Given the description of an element on the screen output the (x, y) to click on. 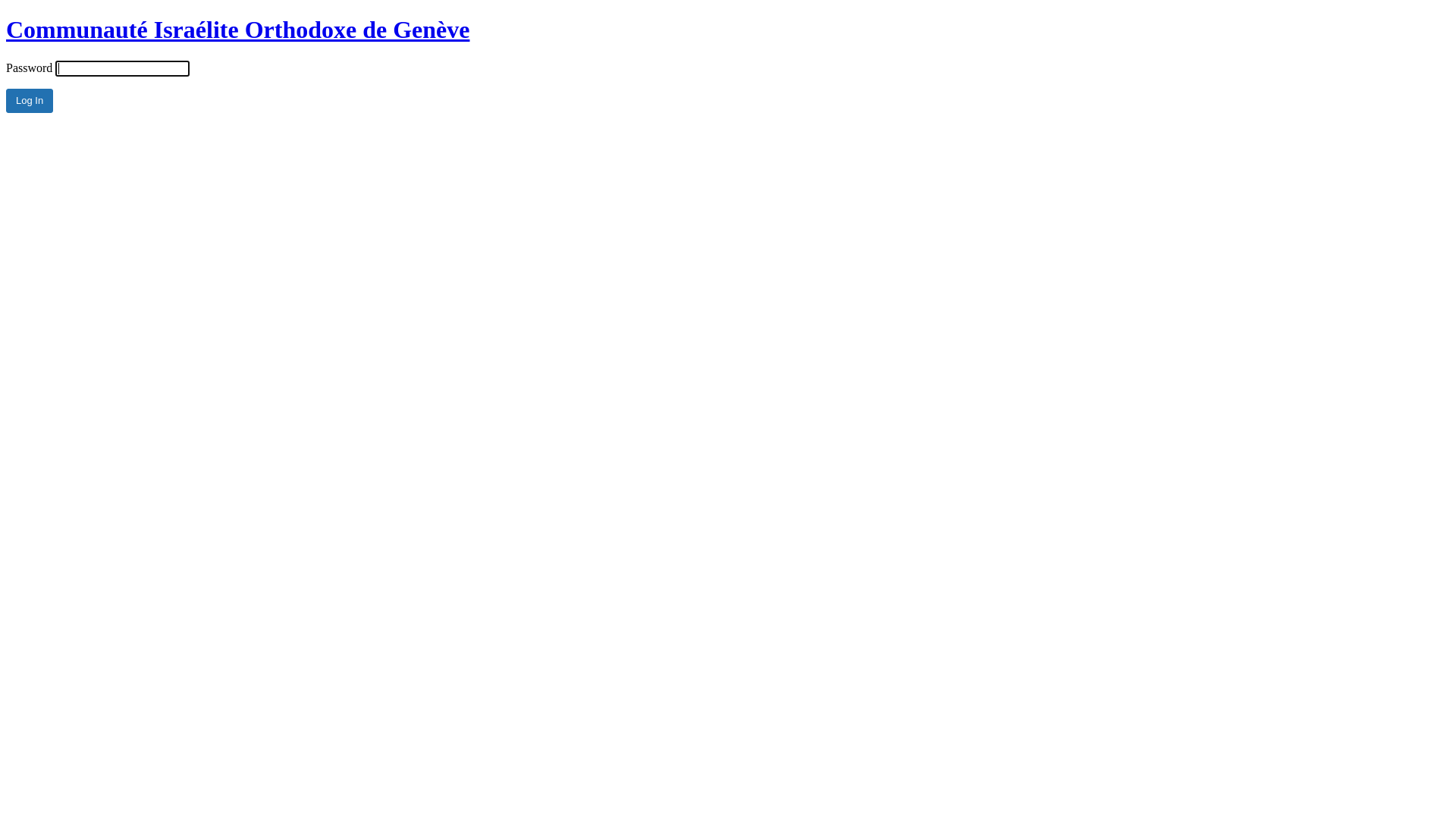
Log In Element type: text (29, 100)
